Given the description of an element on the screen output the (x, y) to click on. 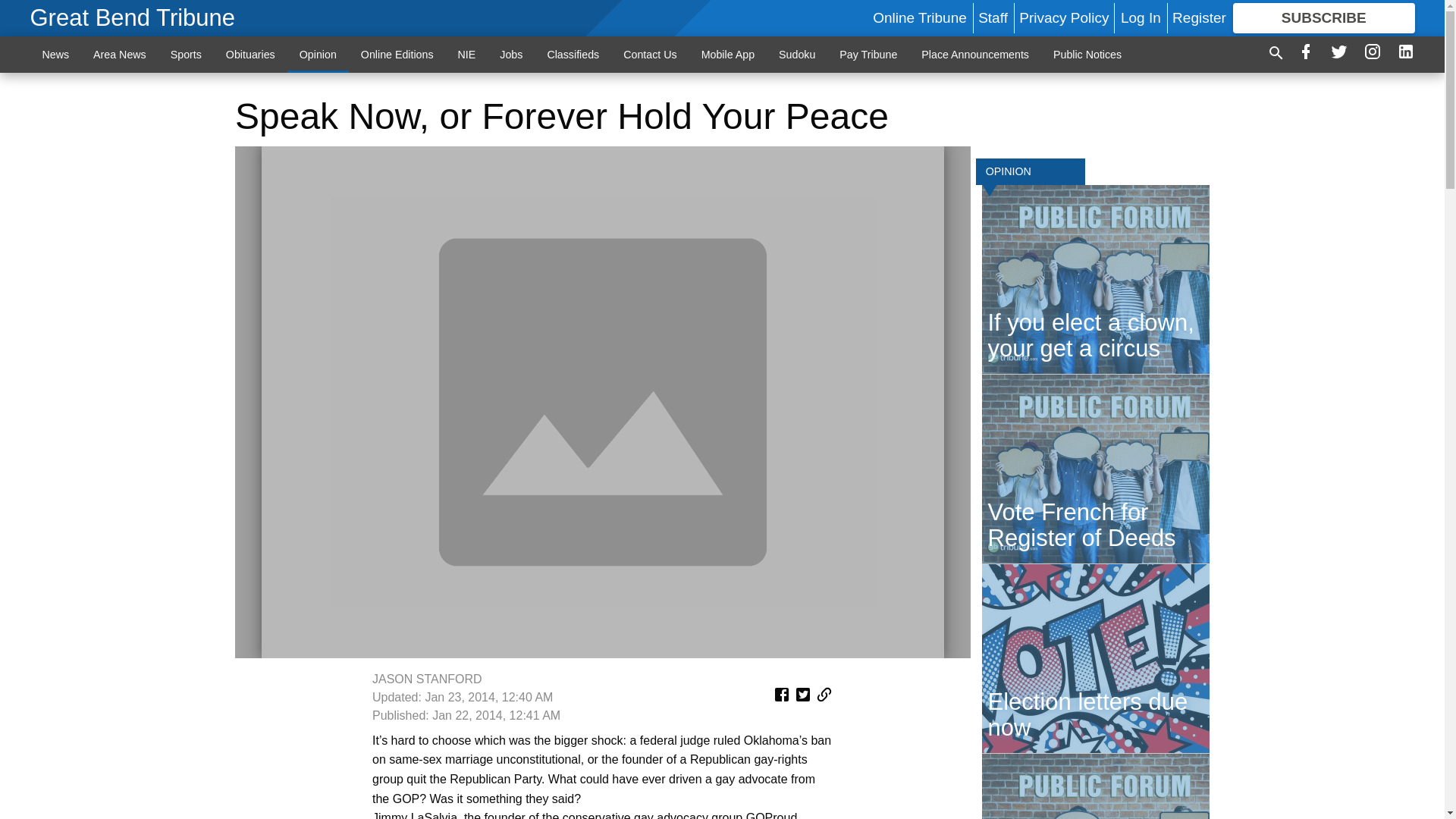
Register (1198, 17)
Privacy Policy (1063, 17)
Contact Us (649, 54)
Obituaries (250, 54)
SUBSCRIBE (1324, 18)
Mobile App (727, 54)
Online Editions (397, 54)
Sports (186, 54)
Classifieds (572, 54)
Great Bend Tribune (132, 17)
